Given the description of an element on the screen output the (x, y) to click on. 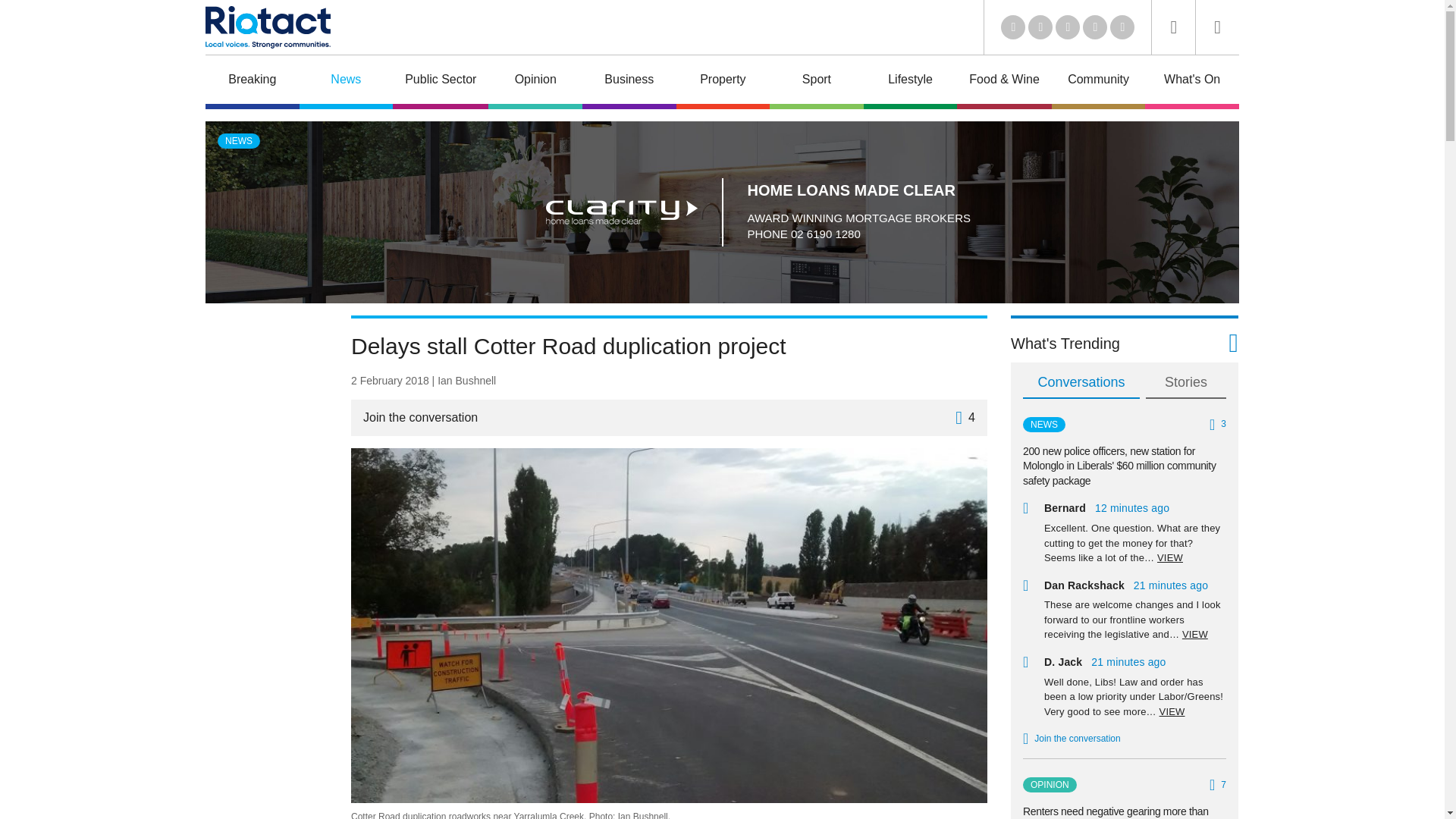
Youtube (1067, 27)
Breaking (252, 81)
News (346, 81)
LinkedIn (1013, 27)
Instagram (1121, 27)
Facebook (1094, 27)
Riotact Home (267, 26)
Twitter (1039, 27)
